Given the description of an element on the screen output the (x, y) to click on. 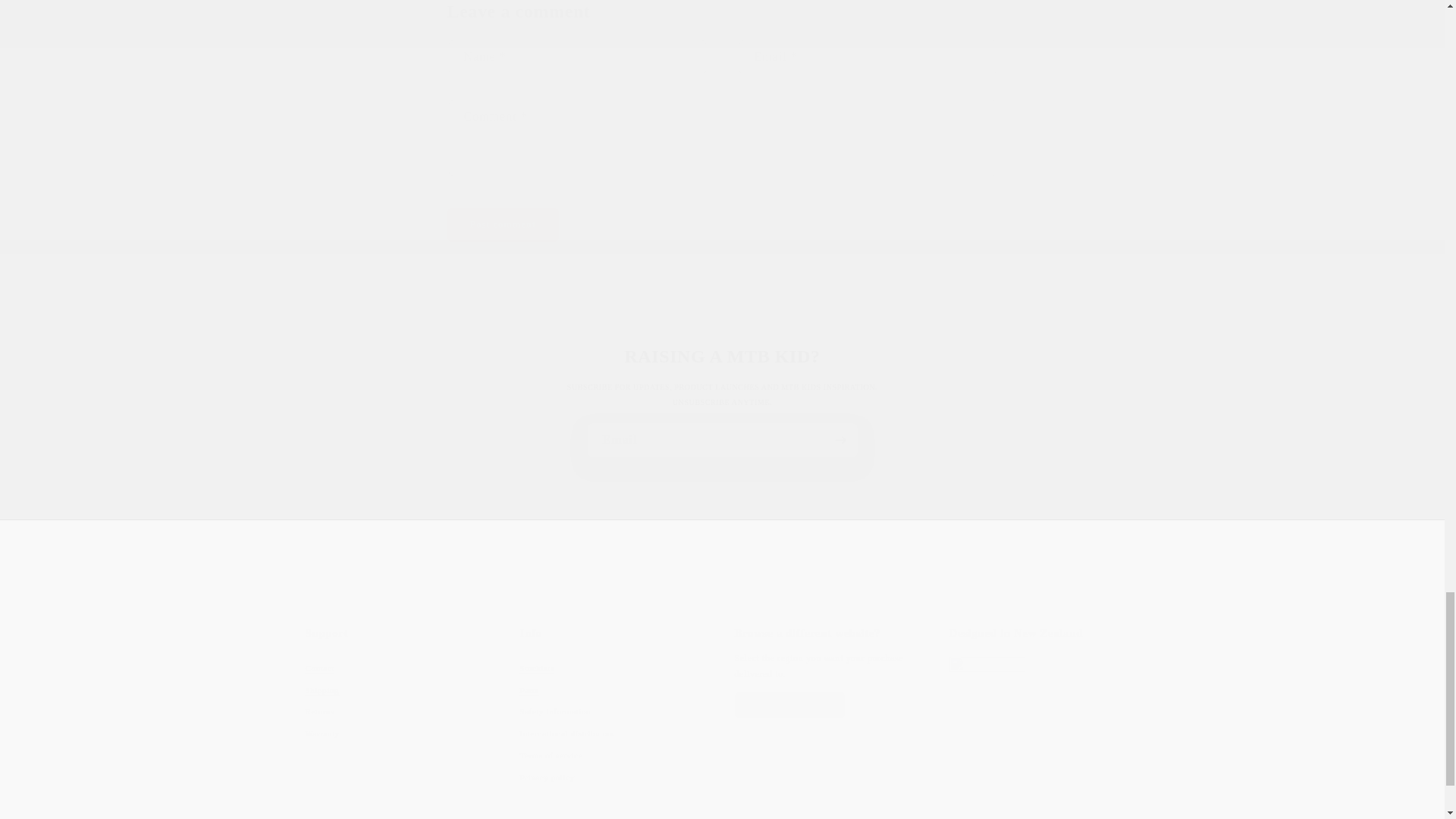
Designed in New Zealand (399, 706)
Email (1044, 706)
Post comment (722, 439)
RAISING A MTB KID? (502, 224)
